Given the description of an element on the screen output the (x, y) to click on. 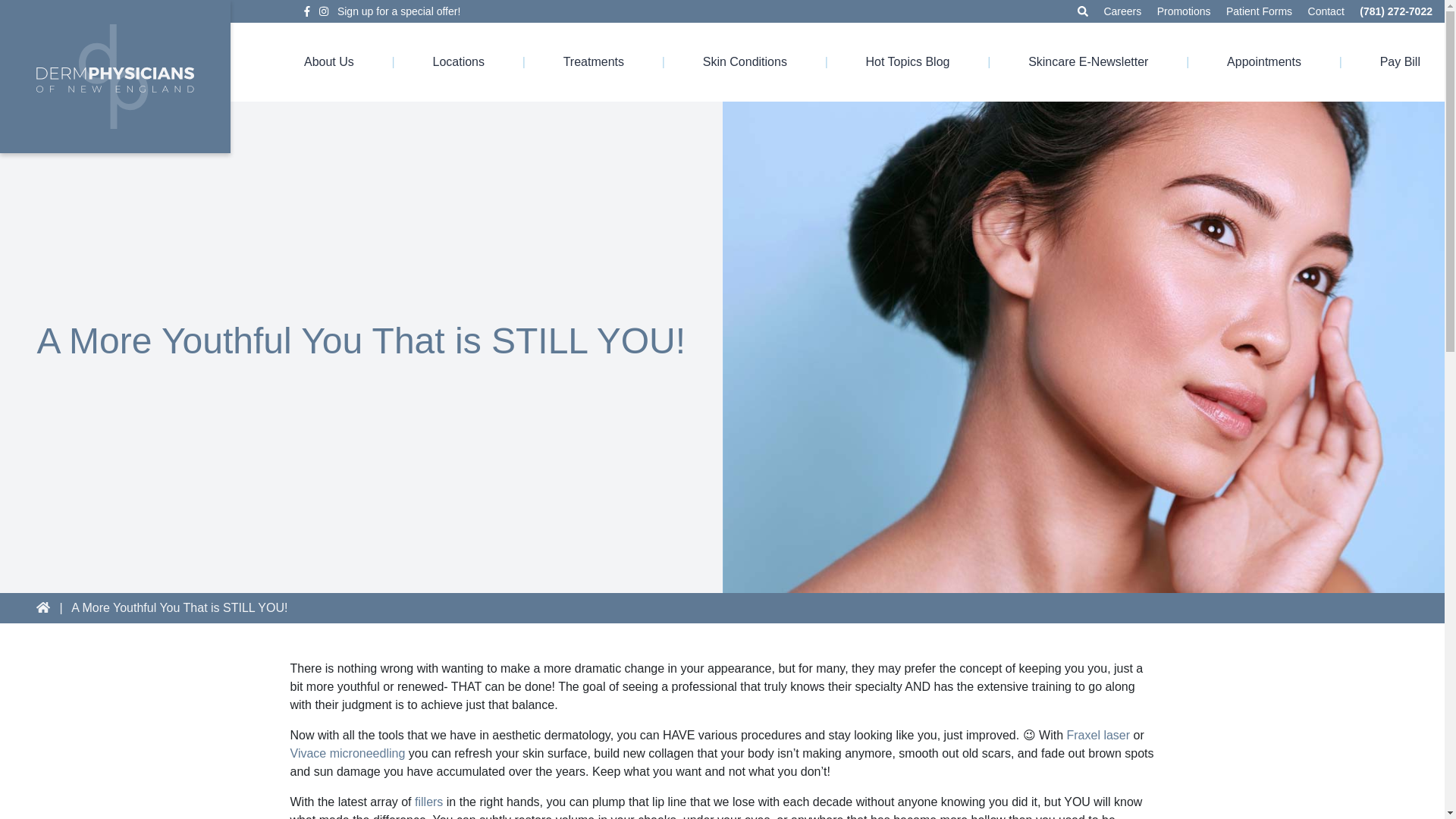
Promotions (1184, 10)
Patient Forms (1258, 10)
Careers (1122, 10)
Locations (458, 61)
Contact (1325, 10)
Sign up for a special offer! (398, 11)
About Us (328, 61)
Treatments (593, 61)
